Given the description of an element on the screen output the (x, y) to click on. 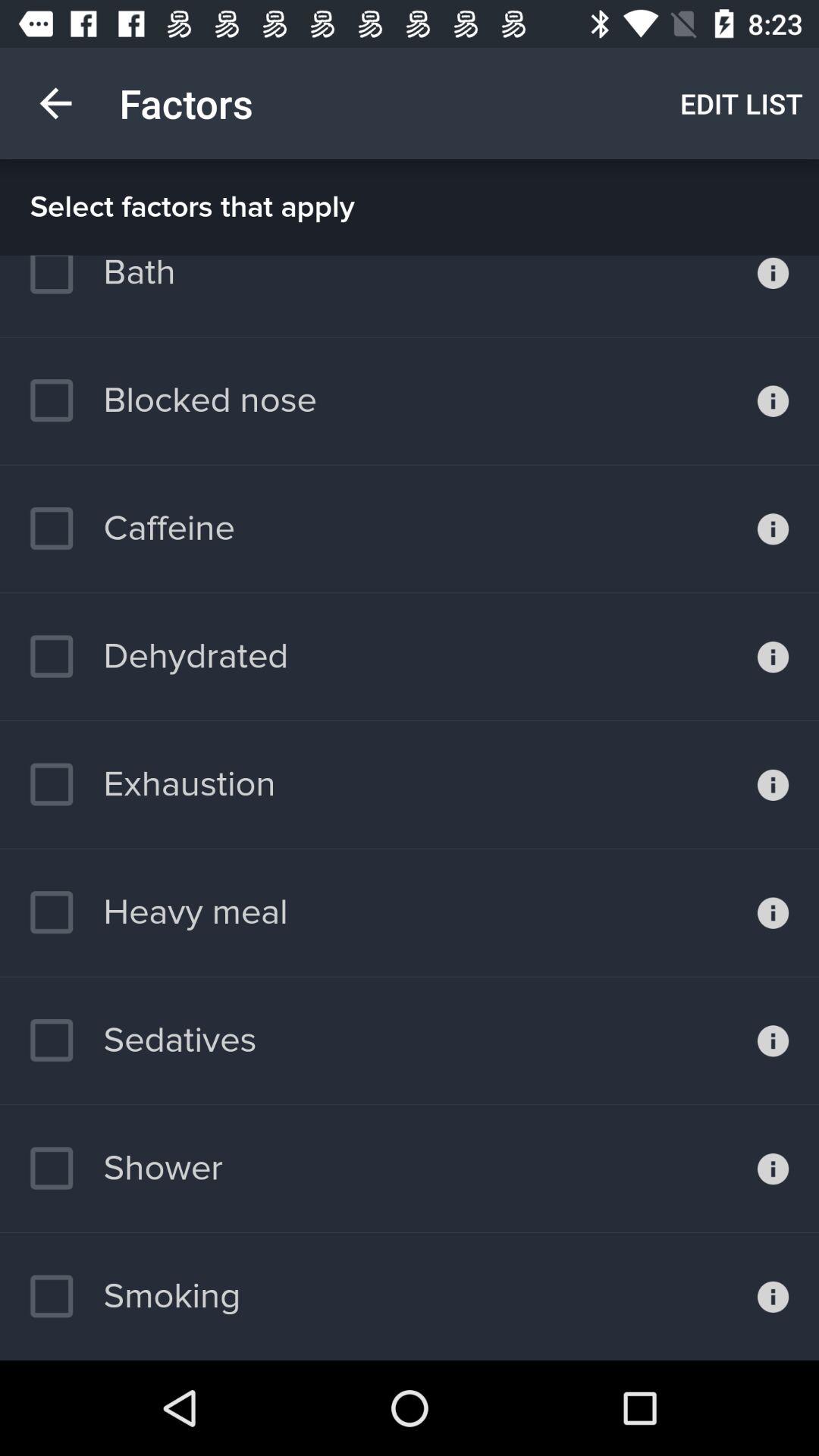
scroll to the caffeine item (132, 528)
